Given the description of an element on the screen output the (x, y) to click on. 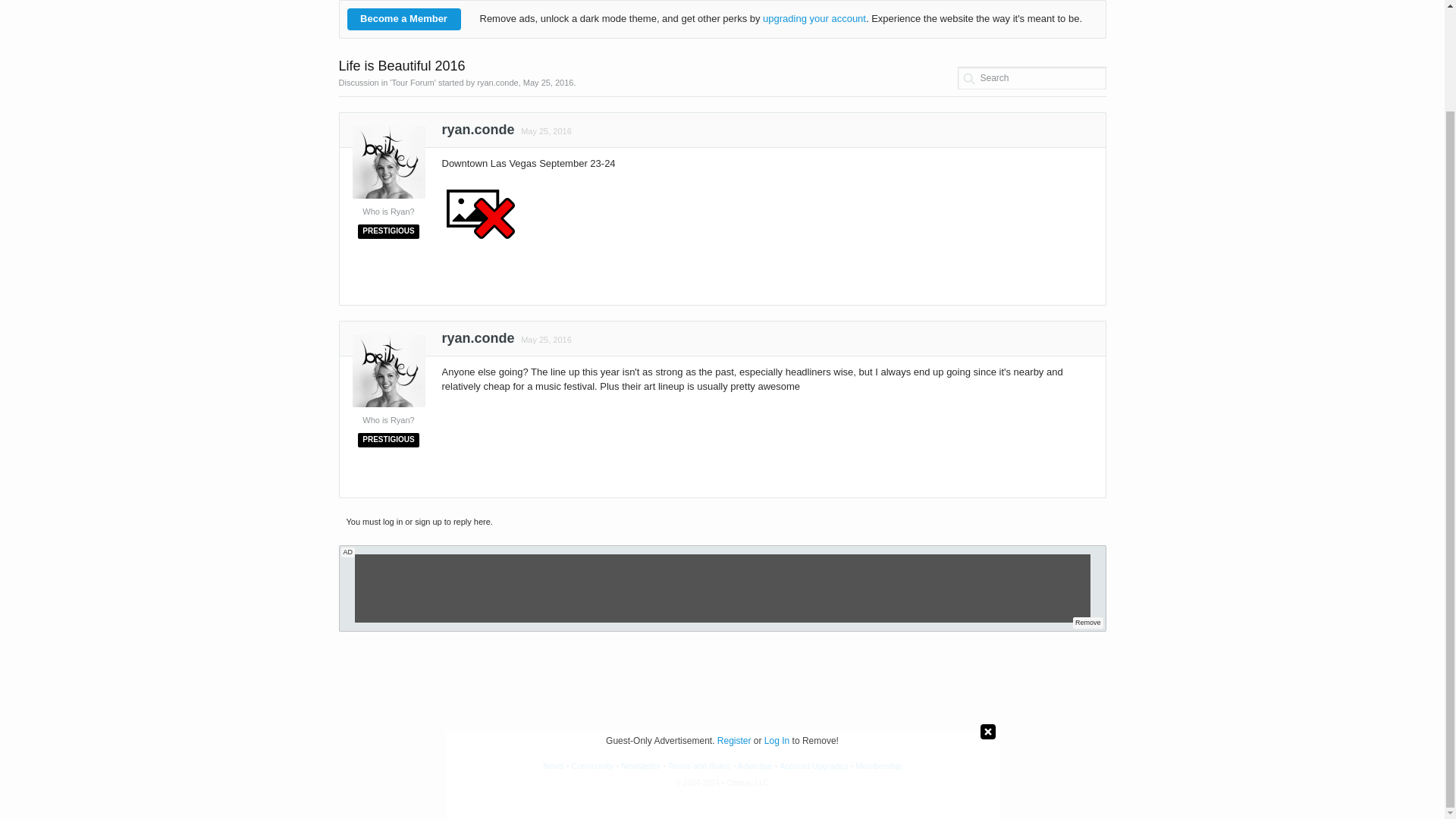
upgrading your account (814, 18)
3rd party ad content (722, 588)
Enter your search and hit enter (1030, 77)
You must log in or sign up to reply here. (419, 521)
May 25, 2016 (544, 130)
May 25, 2016 at 5:08 PM (546, 130)
3rd party ad content (721, 663)
PRESTIGIOUS (388, 438)
May 25, 2016 at 5:08 PM (547, 81)
ryan.conde (477, 133)
ryan.conde (497, 81)
Become a Member (404, 19)
Tour Forum (412, 81)
Permalink (544, 130)
PRESTIGIOUS (388, 229)
